Given the description of an element on the screen output the (x, y) to click on. 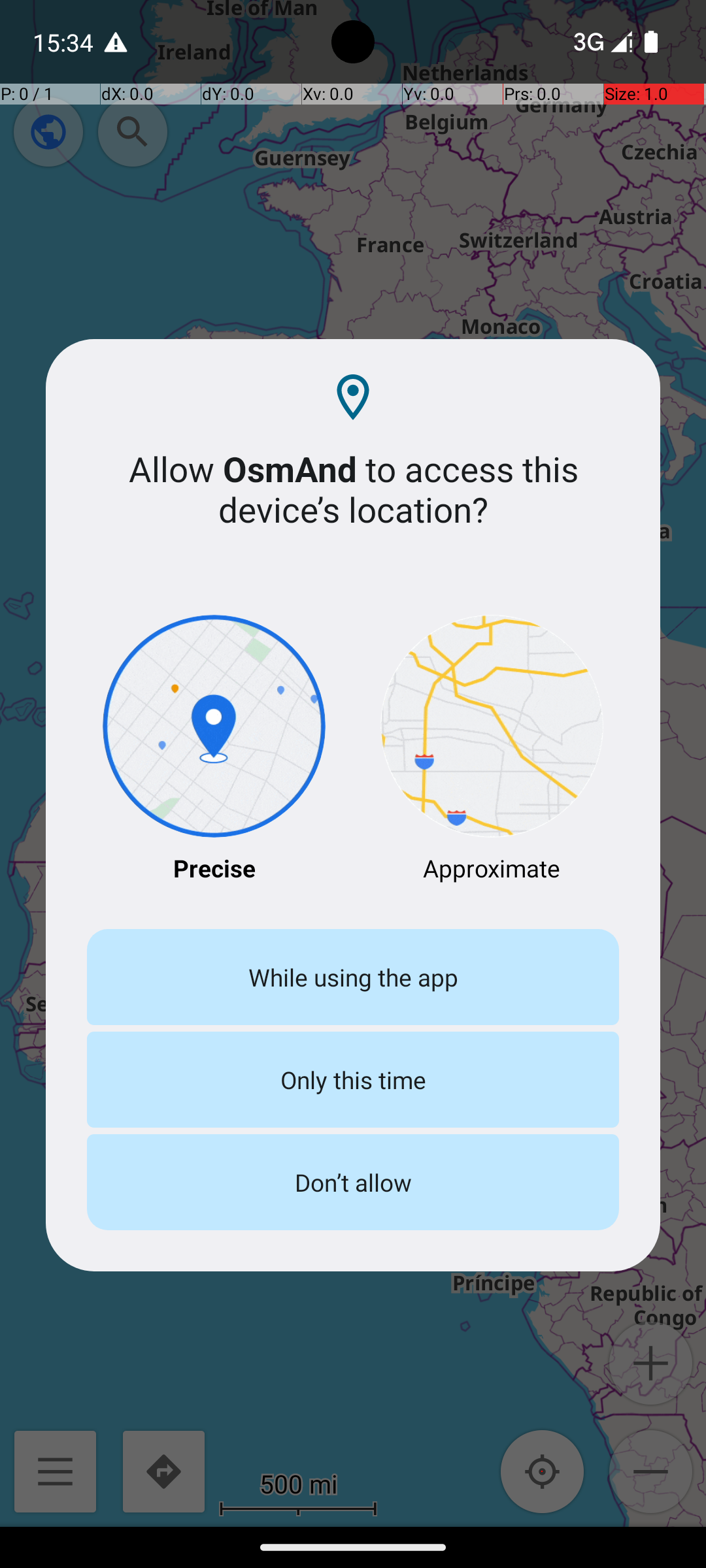
Allow OsmAnd to access this device’s location? Element type: android.widget.TextView (352, 488)
While using the app Element type: android.widget.Button (352, 977)
Only this time Element type: android.widget.Button (352, 1079)
Don’t allow Element type: android.widget.Button (352, 1182)
Precise Element type: android.widget.RadioButton (213, 749)
Approximate Element type: android.widget.RadioButton (491, 749)
